Given the description of an element on the screen output the (x, y) to click on. 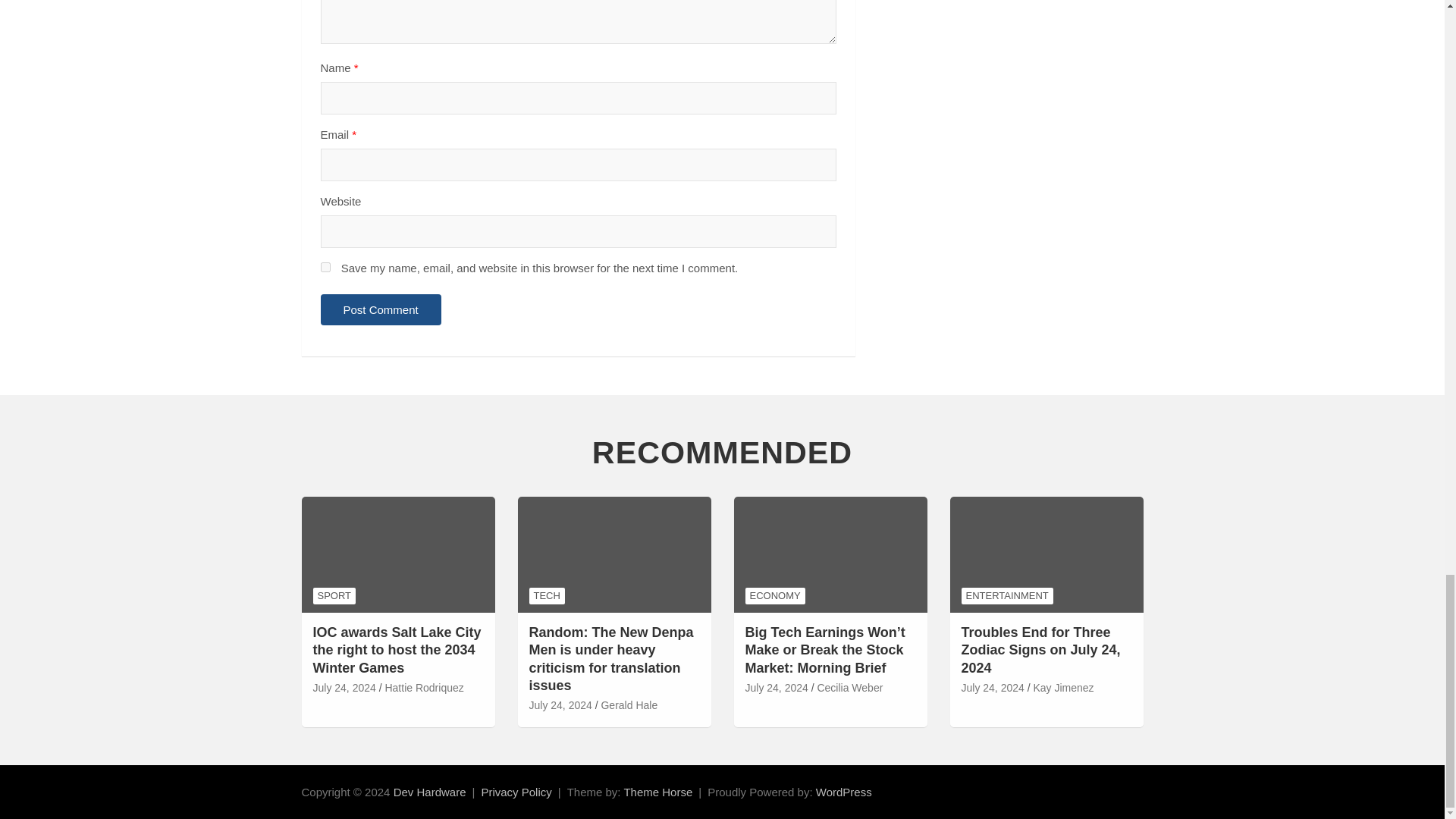
WordPress (843, 791)
Hattie Rodriquez (423, 688)
Theme Horse (658, 791)
Post Comment (380, 309)
Post Comment (380, 309)
Troubles End for Three Zodiac Signs on July 24, 2024 (992, 688)
Dev Hardware (429, 791)
SPORT (334, 596)
July 24, 2024 (344, 688)
yes (325, 266)
